Given the description of an element on the screen output the (x, y) to click on. 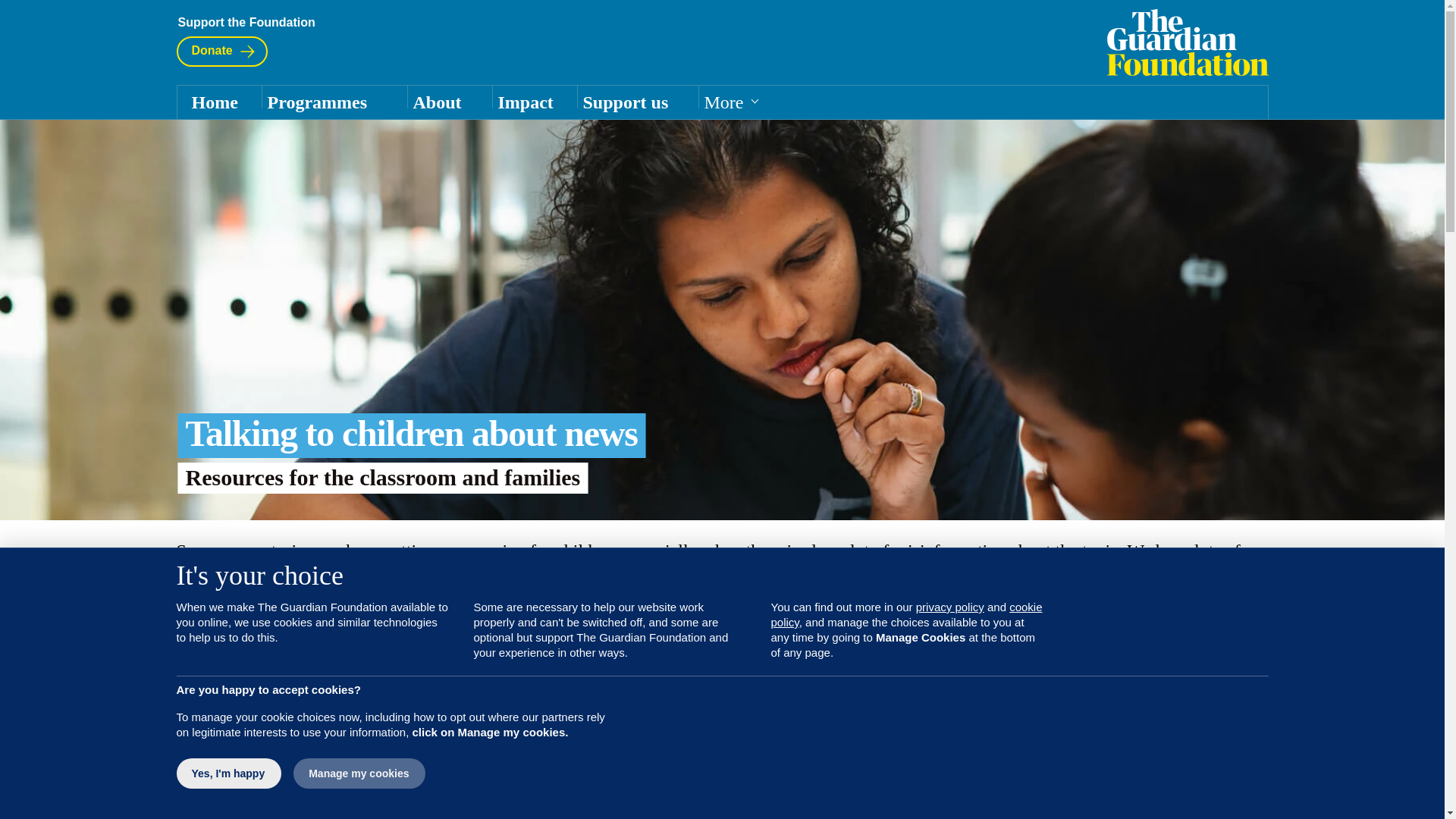
Yes, I'm happy (228, 773)
cookie policy (906, 614)
Home (218, 101)
privacy policy (949, 606)
About (449, 101)
Home (1187, 42)
Programmes (333, 101)
Manage my cookies (359, 773)
Donate (221, 51)
Manage my cookies (358, 773)
